Given the description of an element on the screen output the (x, y) to click on. 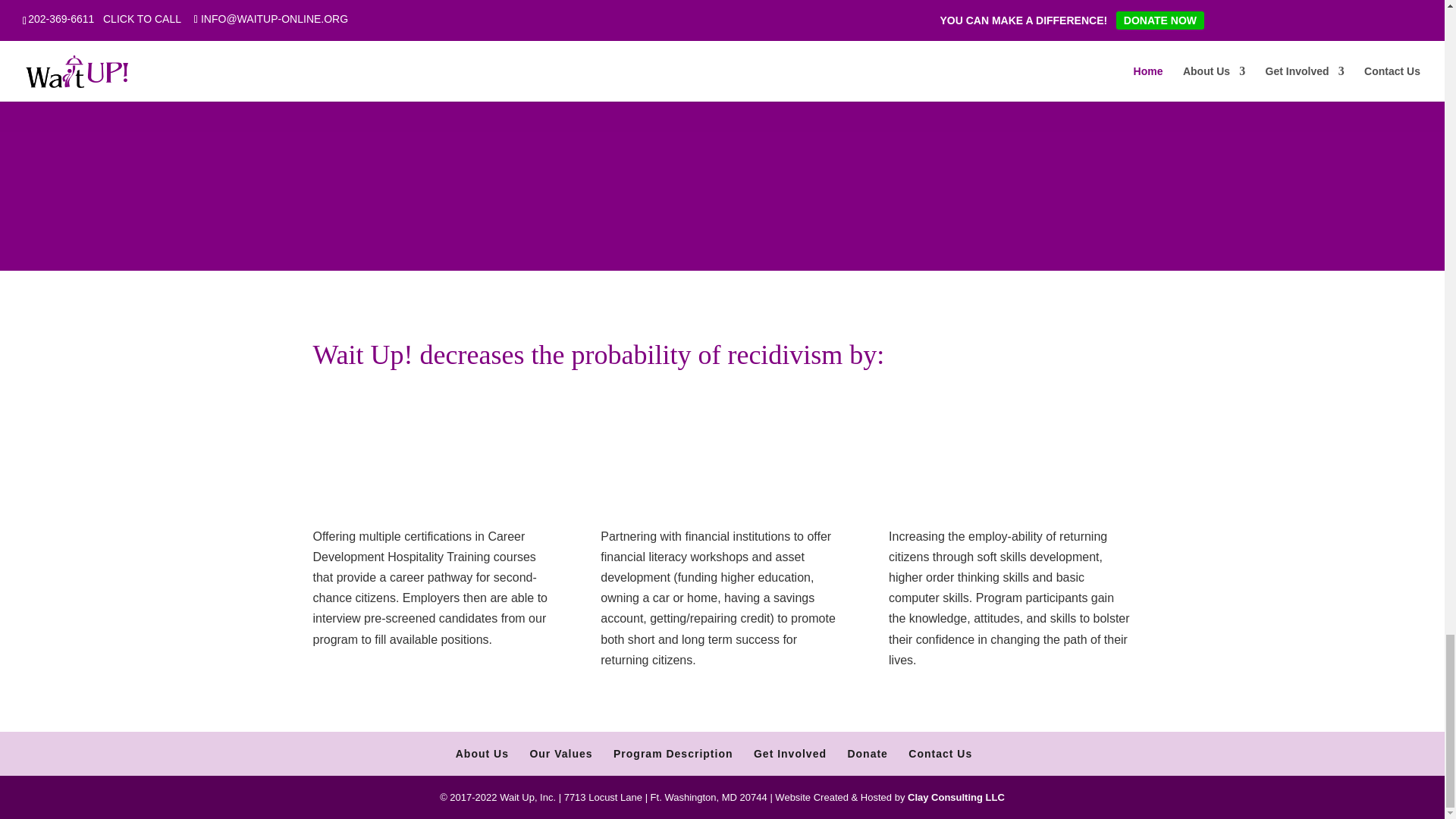
Our Values (560, 753)
Clay Consulting LLC (955, 797)
Donate (866, 753)
Get Involved (790, 753)
About Us (481, 753)
Tech:EASY-Effective, Adaptable Service to You (955, 797)
Program Description (672, 753)
Contact Us (940, 753)
